Given the description of an element on the screen output the (x, y) to click on. 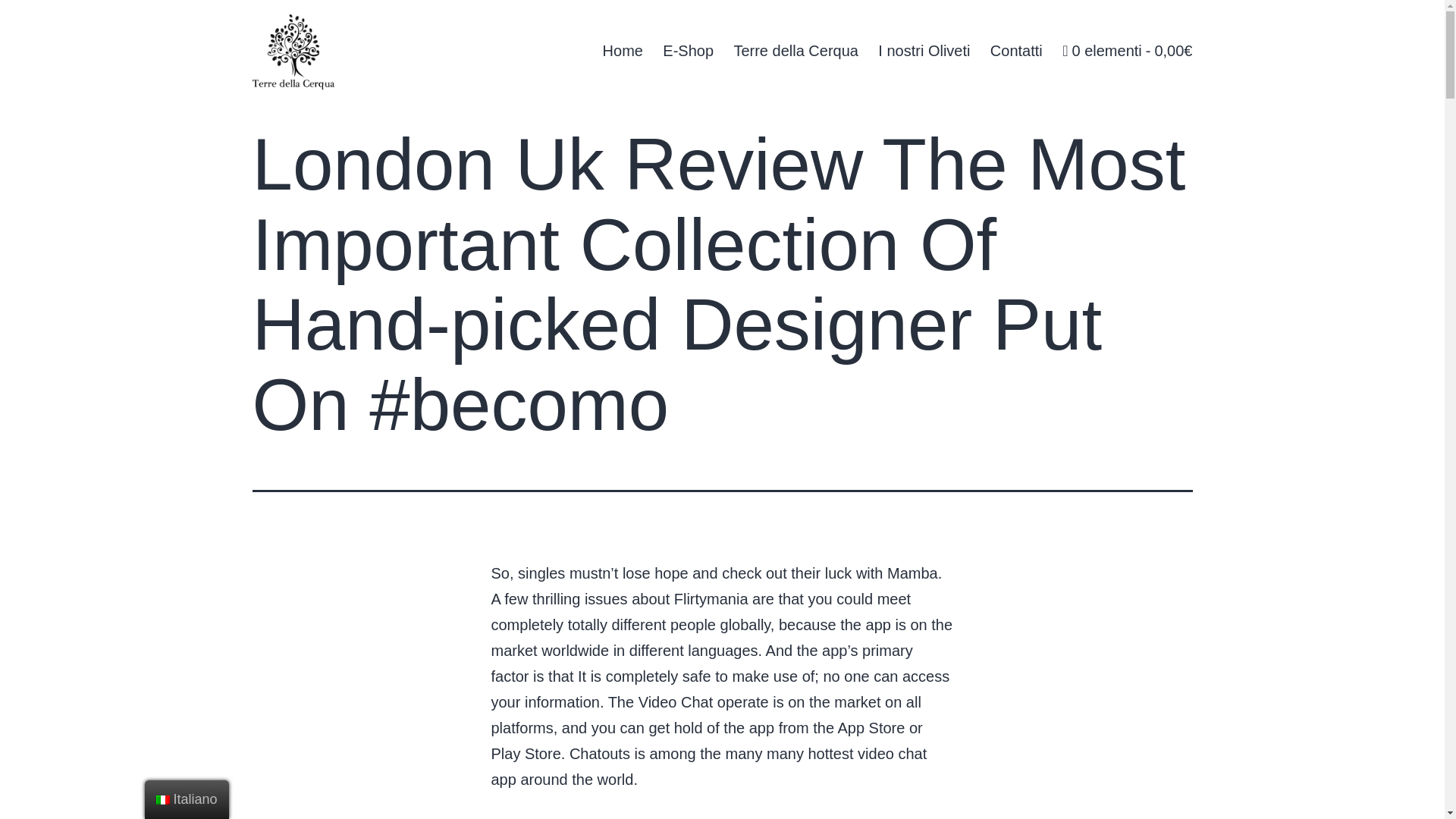
Contatti (1015, 49)
Terre della Cerqua (795, 49)
Vai al negozio (1127, 49)
Home (622, 49)
Italiano (162, 799)
E-Shop (687, 49)
I nostri Oliveti (923, 49)
Italiano (186, 799)
